Given the description of an element on the screen output the (x, y) to click on. 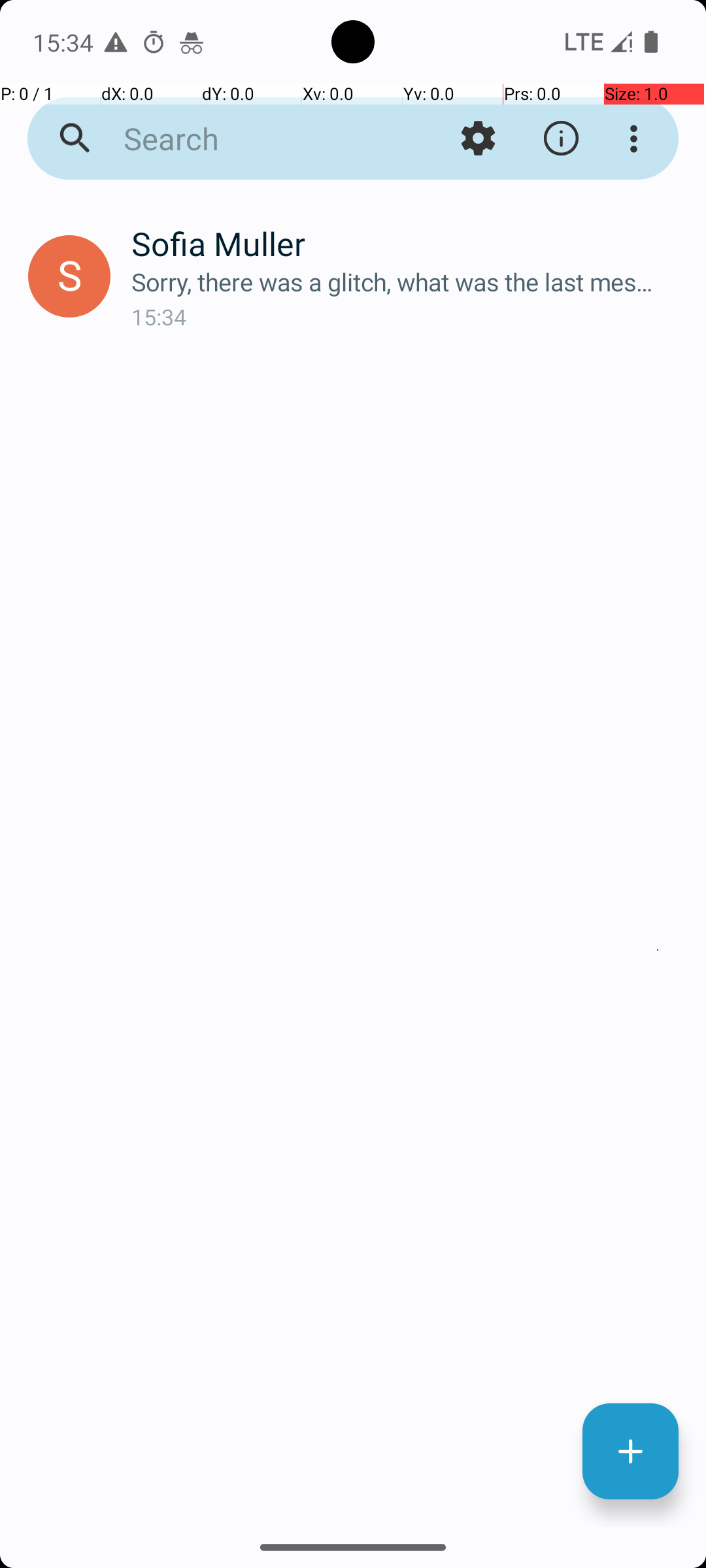
Sofia Muller Element type: android.widget.TextView (408, 242)
